Given the description of an element on the screen output the (x, y) to click on. 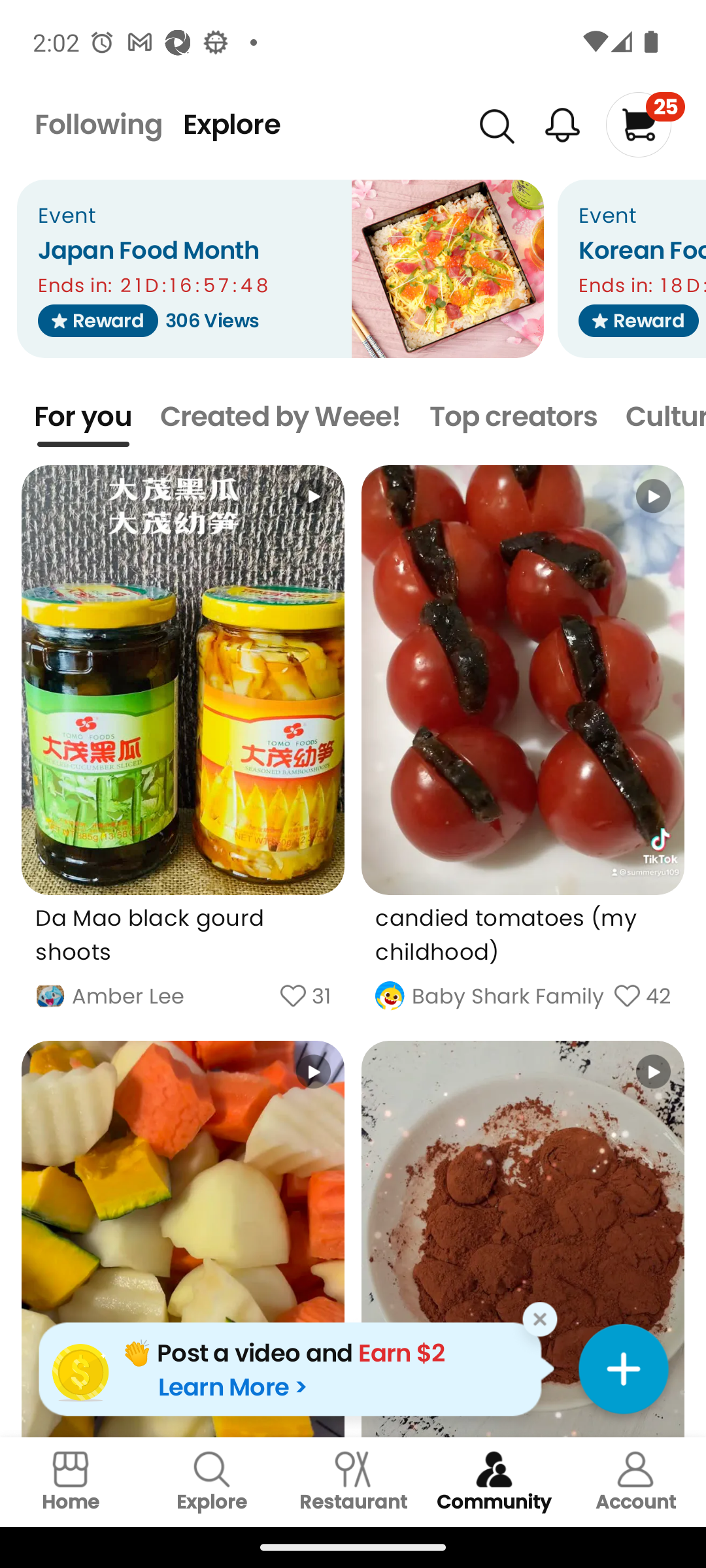
Following (98, 124)
Explore (231, 124)
25 (644, 124)
For you (82, 416)
Created by Weee! (280, 416)
Top creators (512, 416)
Culture (665, 416)
Da Mao black gourd shoots Amber Lee 31 (182, 748)
31 (321, 996)
42 (657, 996)
👏 Post a video and Earn $2 Learn More > (296, 1369)
Home (70, 1482)
Explore (211, 1482)
Restaurant (352, 1482)
Community (493, 1482)
Account (635, 1482)
